Given the description of an element on the screen output the (x, y) to click on. 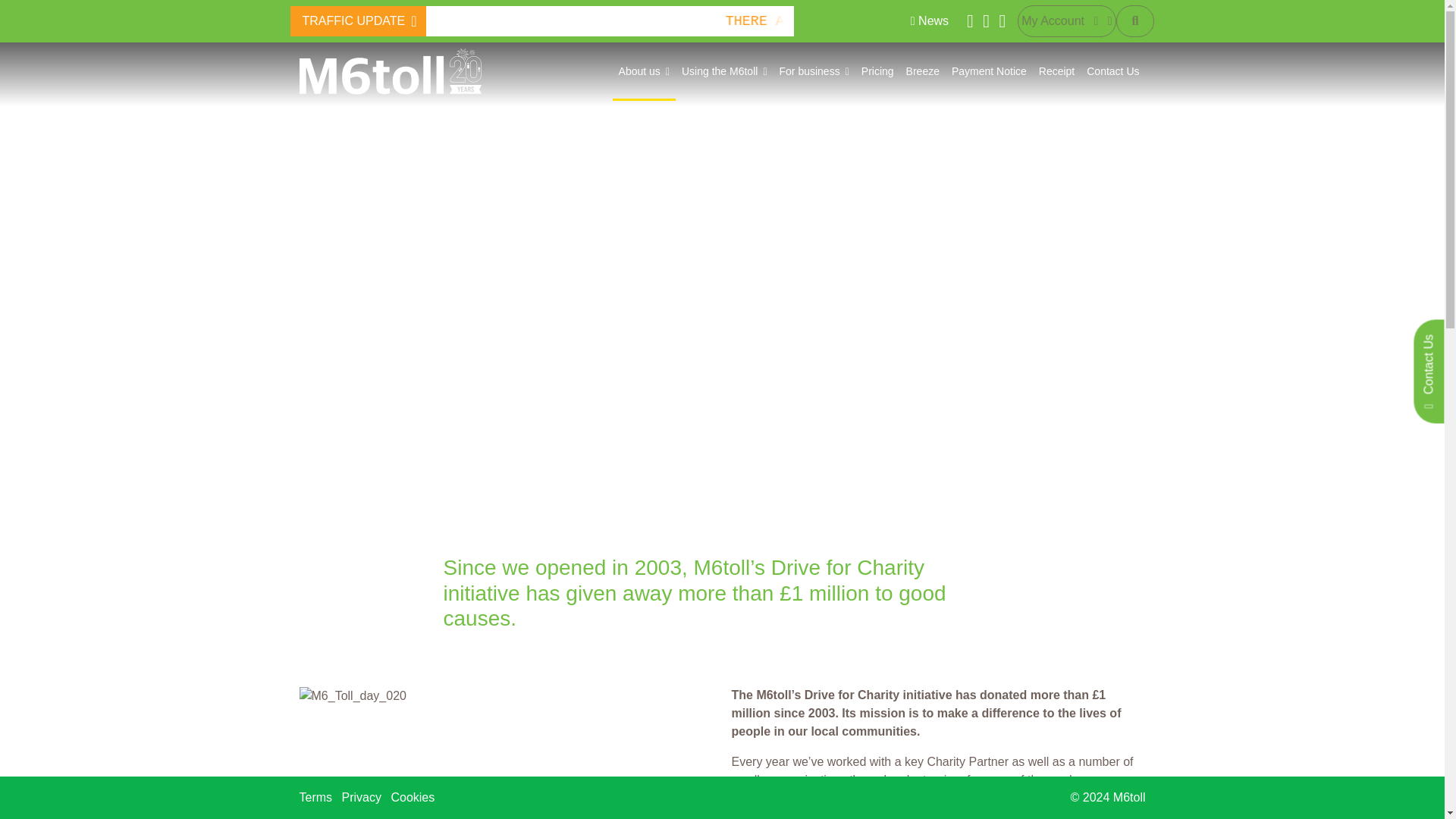
Pricing (877, 71)
Contact Us (1112, 71)
For business (814, 71)
M6toll (389, 71)
Breeze (921, 71)
Receipt (1056, 71)
About us (643, 71)
Using the M6toll (724, 71)
My Account (1066, 20)
News (930, 21)
